Given the description of an element on the screen output the (x, y) to click on. 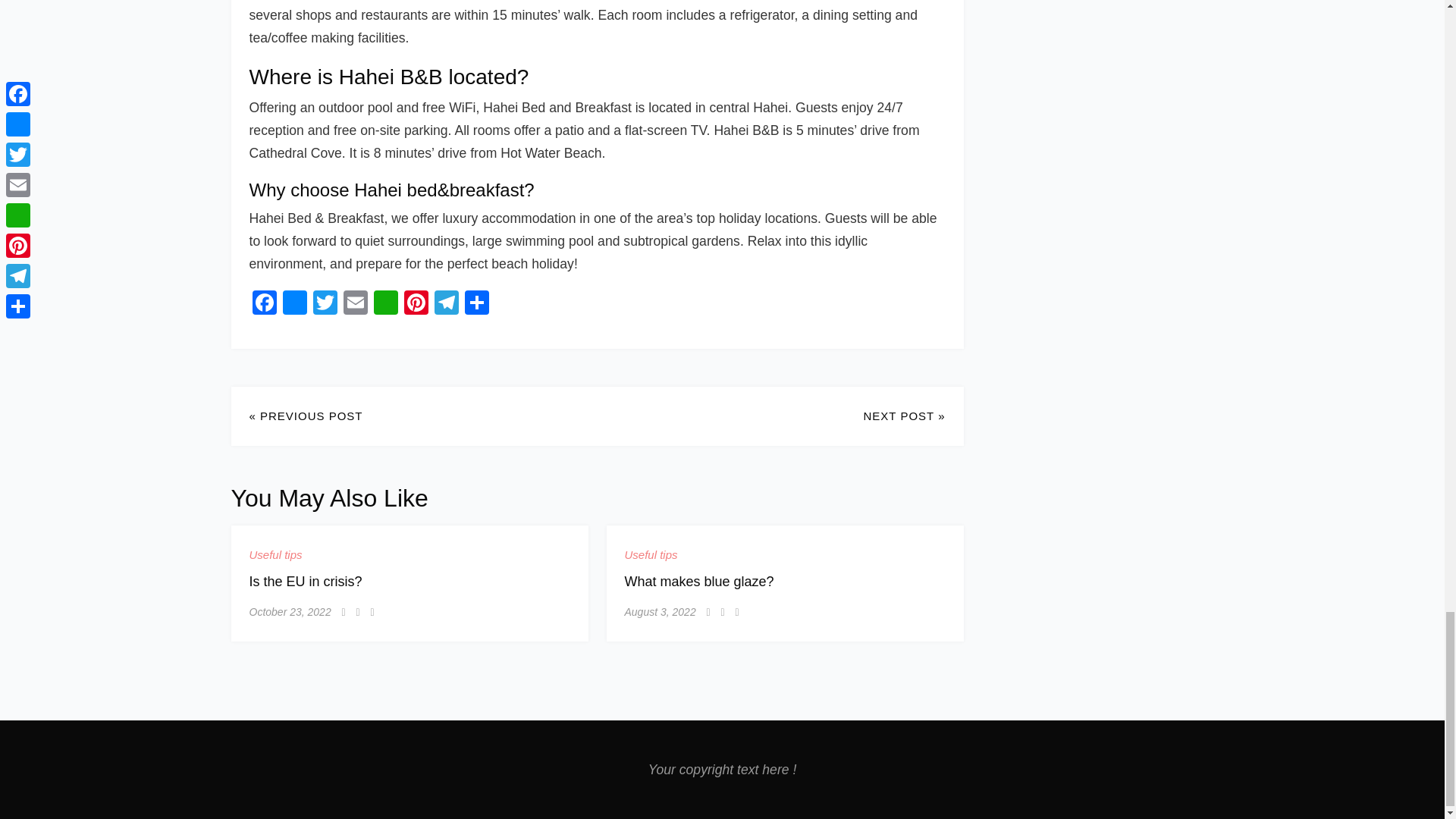
Twitter (323, 304)
Useful tips (274, 554)
Telegram (445, 304)
Pinterest (415, 304)
WhatsApp (384, 304)
Facebook (263, 304)
Facebook (263, 304)
WhatsApp (384, 304)
Messenger (293, 304)
Twitter (323, 304)
Email (354, 304)
Messenger (293, 304)
Email (354, 304)
Telegram (445, 304)
Pinterest (415, 304)
